Given the description of an element on the screen output the (x, y) to click on. 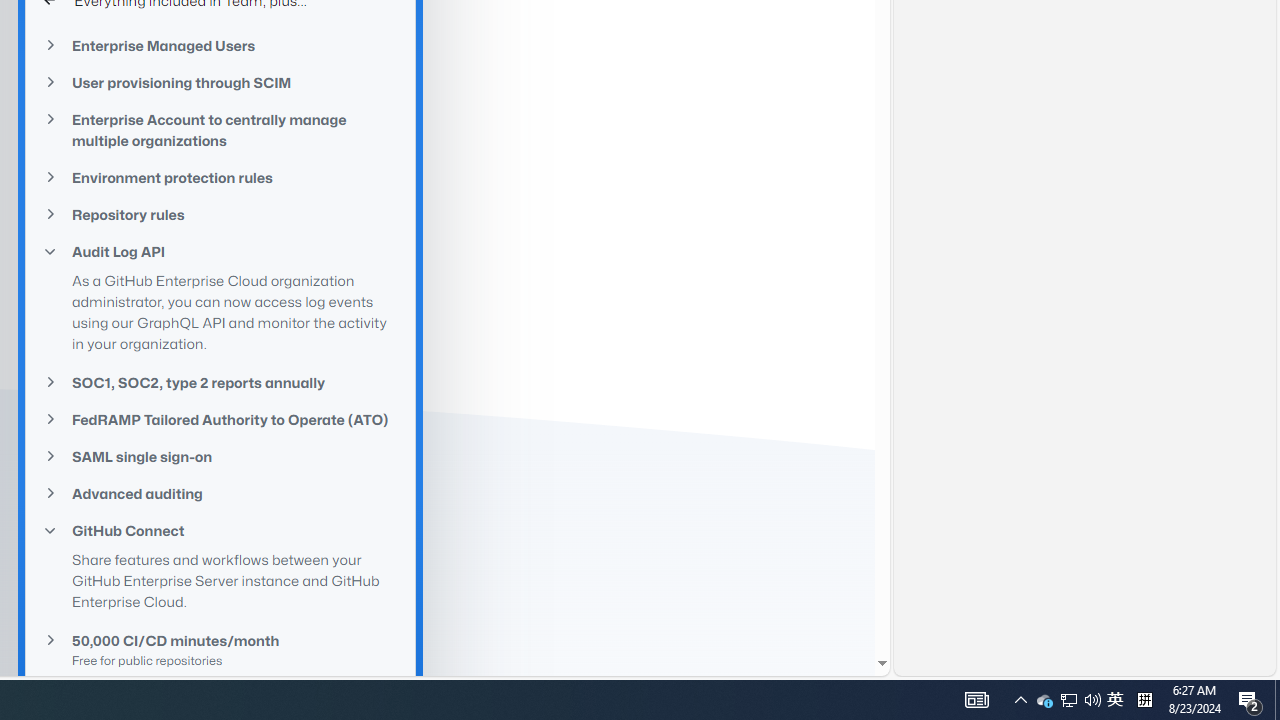
FedRAMP Tailored Authority to Operate (ATO) (220, 419)
Repository rules (220, 214)
Repository rules (220, 214)
GitHub Connect (220, 530)
Advanced auditing (220, 492)
Audit Log API (220, 251)
Advanced auditing (220, 493)
User provisioning through SCIM (220, 82)
SAML single sign-on (220, 456)
FedRAMP Tailored Authority to Operate (ATO) (220, 420)
Environment protection rules (220, 177)
